Given the description of an element on the screen output the (x, y) to click on. 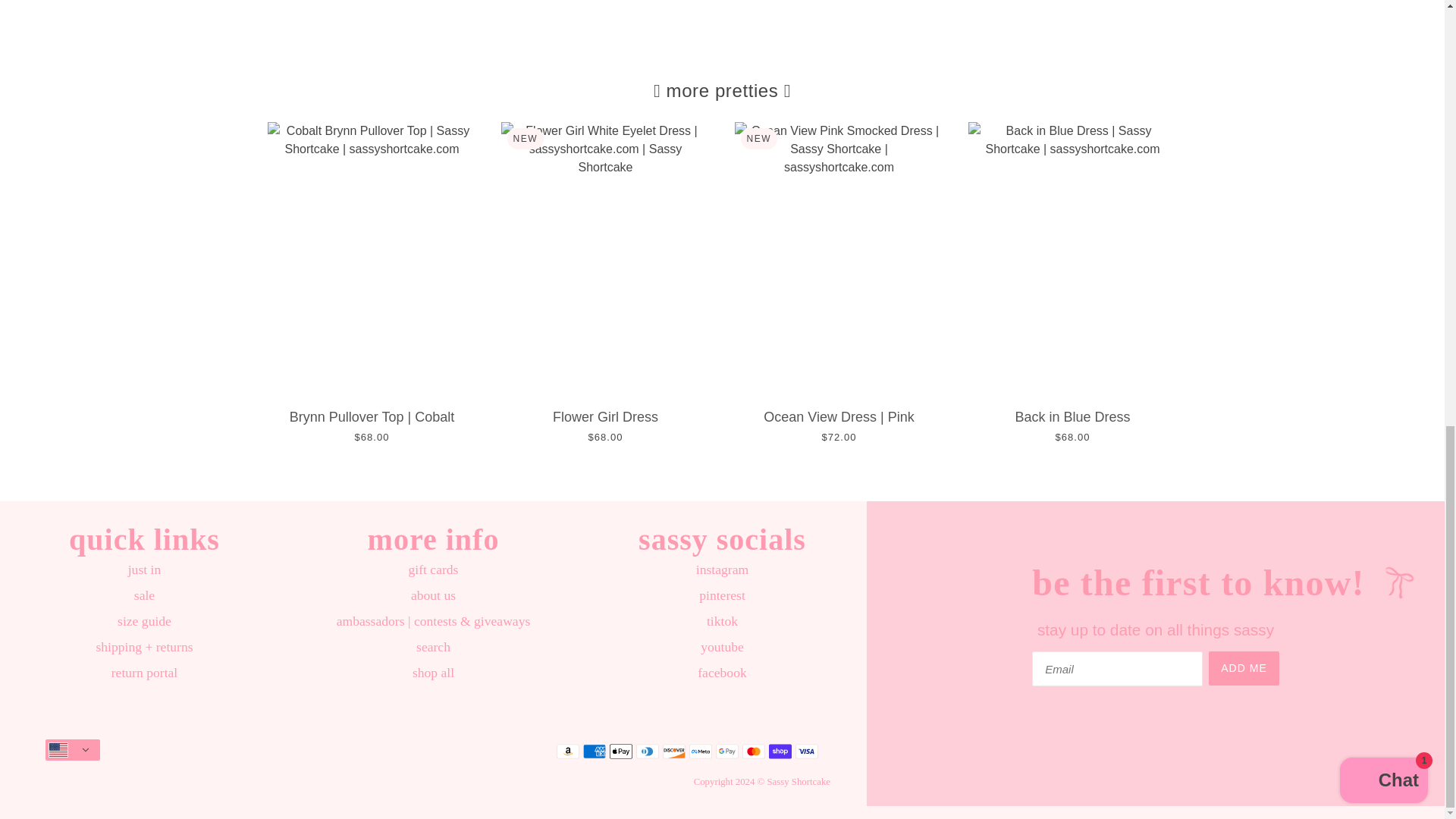
facebook (721, 672)
shop all (433, 672)
instagram (721, 569)
pinterest (721, 595)
size guide (144, 620)
sale (143, 595)
gift cards (433, 569)
about us (432, 595)
youtube (722, 646)
return portal (144, 672)
just in (144, 569)
tiktok (722, 620)
